Given the description of an element on the screen output the (x, y) to click on. 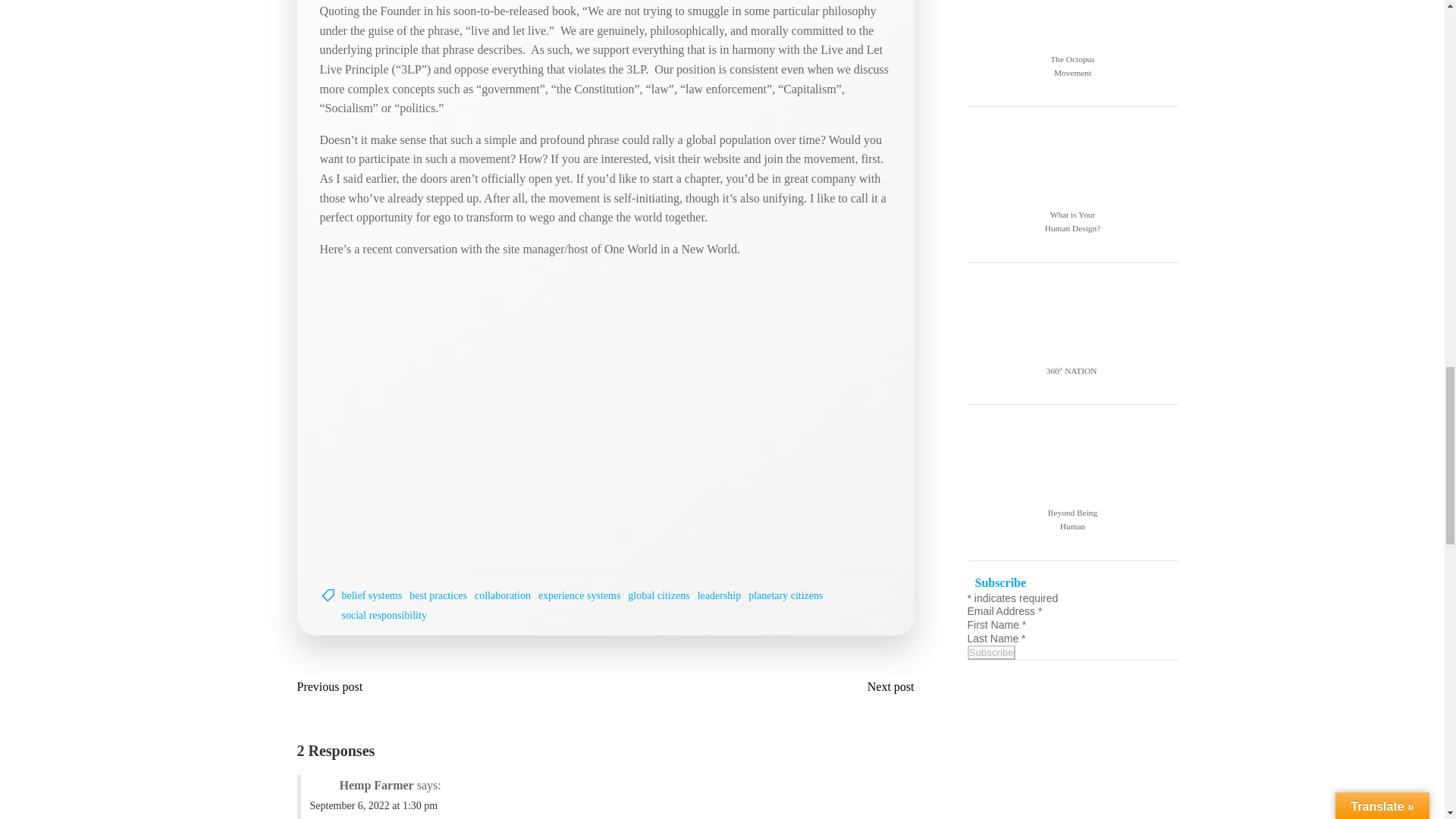
experience systems Tag (579, 595)
planetary citizens Tag (785, 595)
leadership Tag (719, 595)
Subscribe (991, 652)
belief systems Tag (370, 595)
experience systems (579, 595)
collaboration Tag (502, 595)
global citizens Tag (657, 595)
belief systems (370, 595)
best practices (438, 595)
social responsibility Tag (383, 615)
collaboration (502, 595)
global citizens (657, 595)
best practices Tag (438, 595)
leadership (719, 595)
